Given the description of an element on the screen output the (x, y) to click on. 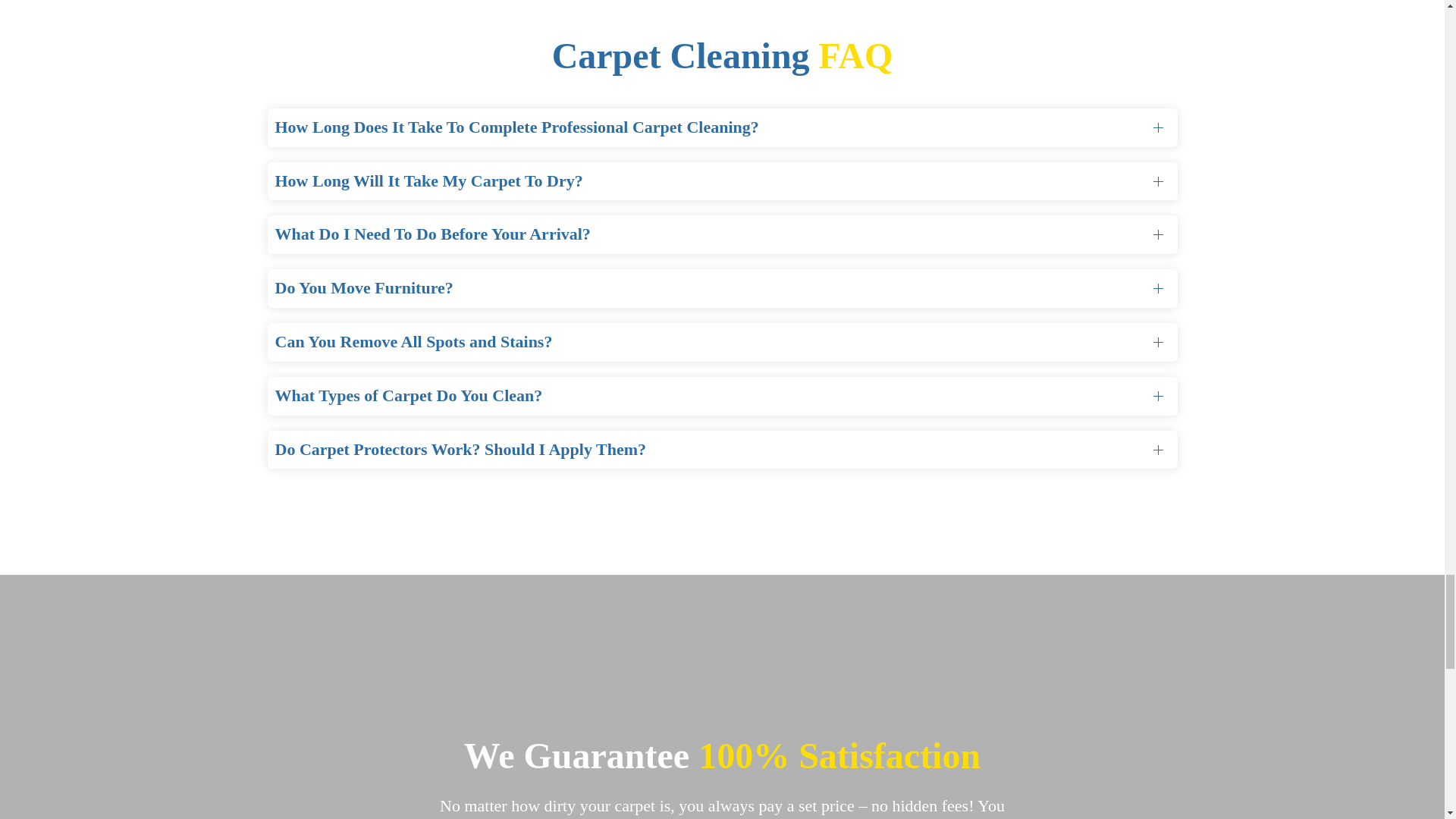
Do You Move Furniture? (721, 288)
What Types of Carpet Do You Clean? (721, 395)
How Long Will It Take My Carpet To Dry? (721, 181)
Do Carpet Protectors Work? Should I Apply Them? (721, 449)
What Do I Need To Do Before Your Arrival? (721, 234)
Can You Remove All Spots and Stains? (721, 341)
